Given the description of an element on the screen output the (x, y) to click on. 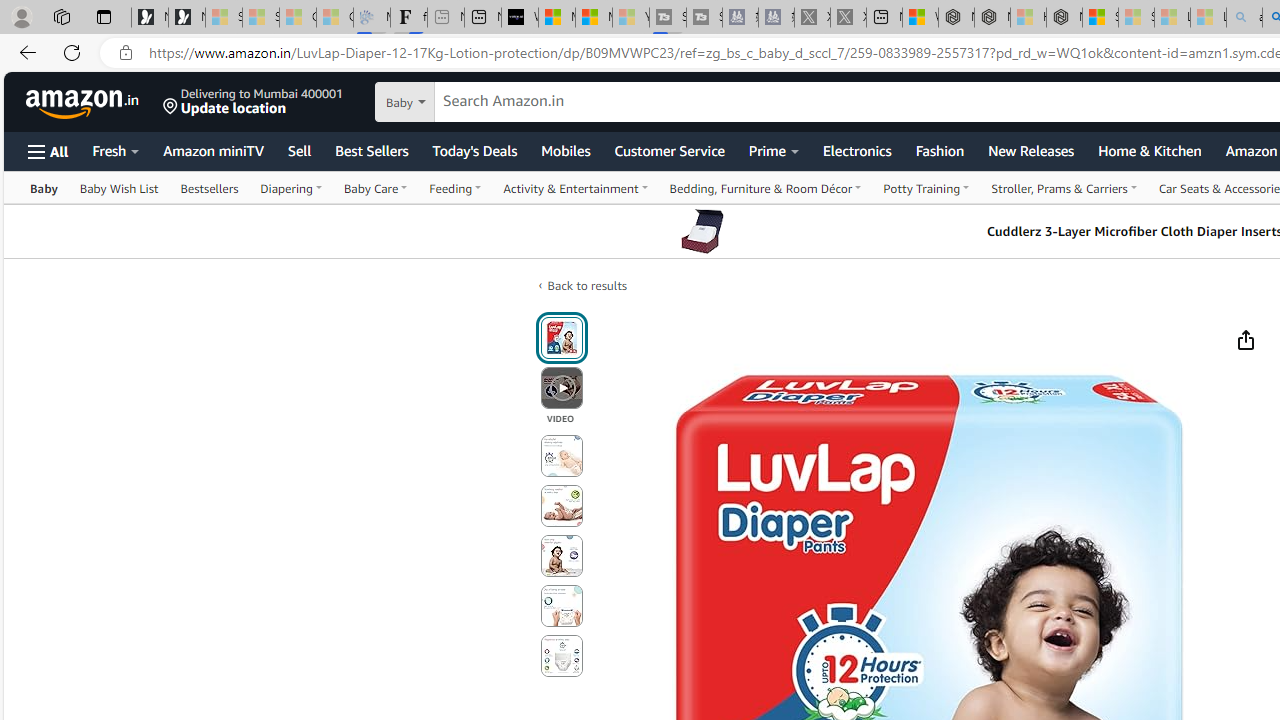
Streaming Coverage | T3 - Sleeping (668, 17)
